Given the description of an element on the screen output the (x, y) to click on. 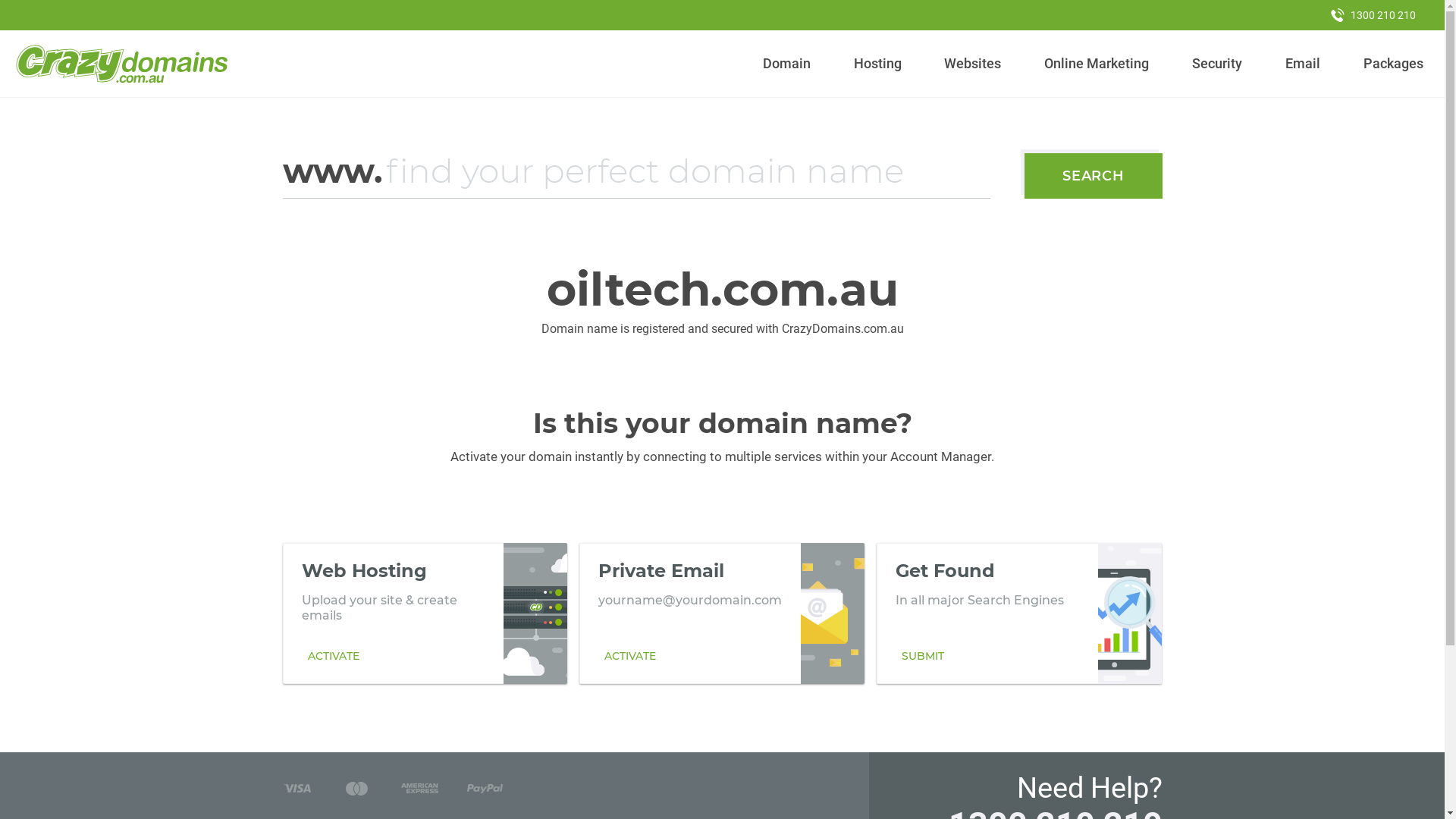
1300 210 210 Element type: text (1373, 15)
Web Hosting
Upload your site & create emails
ACTIVATE Element type: text (424, 613)
Online Marketing Element type: text (1096, 63)
Hosting Element type: text (877, 63)
SEARCH Element type: text (1092, 175)
Private Email
yourname@yourdomain.com
ACTIVATE Element type: text (721, 613)
Get Found
In all major Search Engines
SUBMIT Element type: text (1018, 613)
Email Element type: text (1302, 63)
Security Element type: text (1217, 63)
Packages Element type: text (1392, 63)
Domain Element type: text (786, 63)
Websites Element type: text (972, 63)
